Given the description of an element on the screen output the (x, y) to click on. 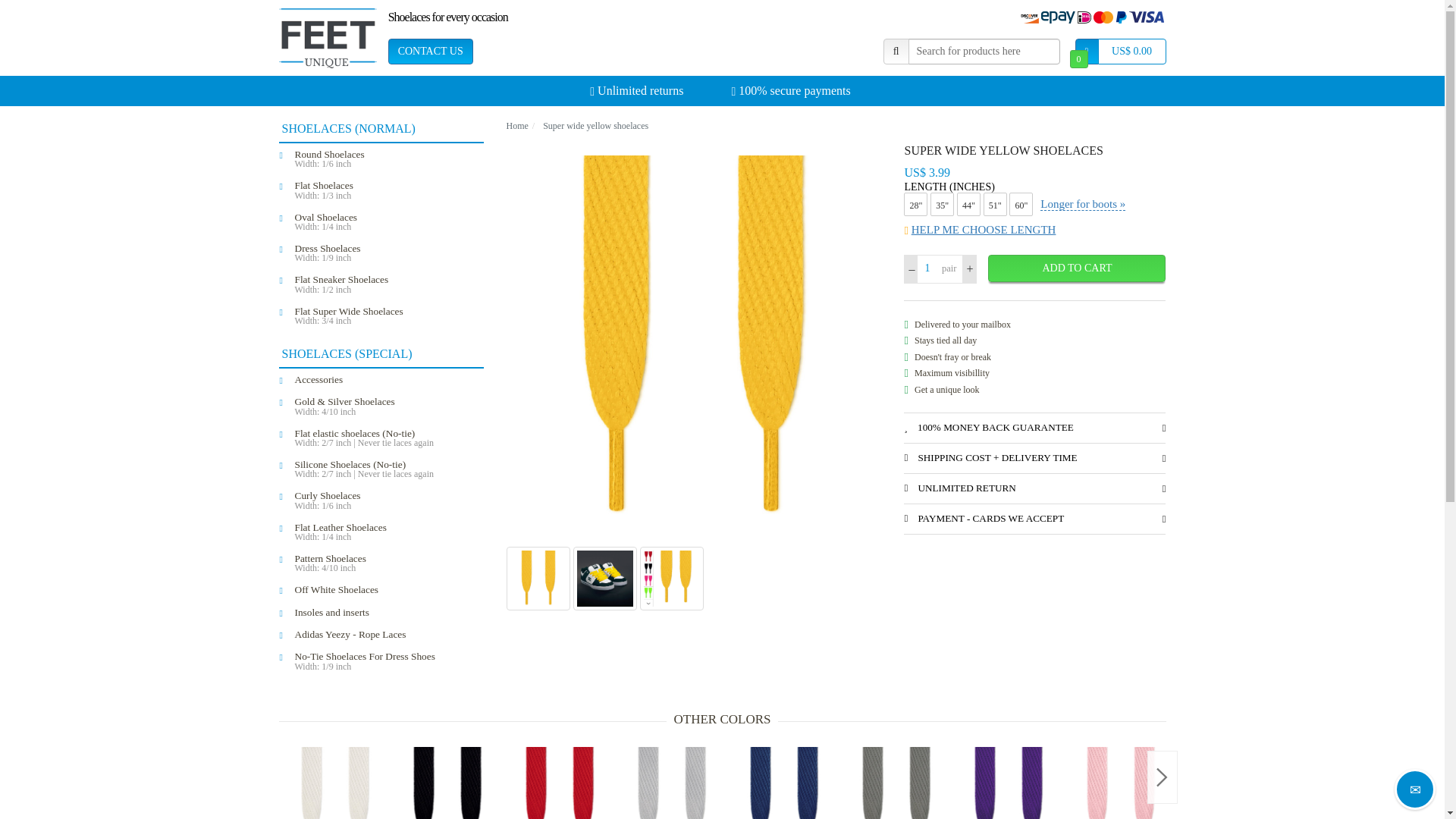
HELP ME CHOOSE LENGTH (1035, 229)
Super wide black shoelaces (447, 782)
Super wide yellow shoelaces (595, 125)
Home (517, 125)
Super wide light gray shoelaces (671, 782)
Accessories (387, 379)
Insoles and inserts (387, 611)
CONTACT US (430, 51)
1 (926, 268)
Adidas Yeezy - Rope Laces (387, 634)
Super wide red shoelaces (559, 782)
Off White Shoelaces (387, 589)
Feetunique US (328, 37)
Super wide white shoelaces (335, 782)
